Given the description of an element on the screen output the (x, y) to click on. 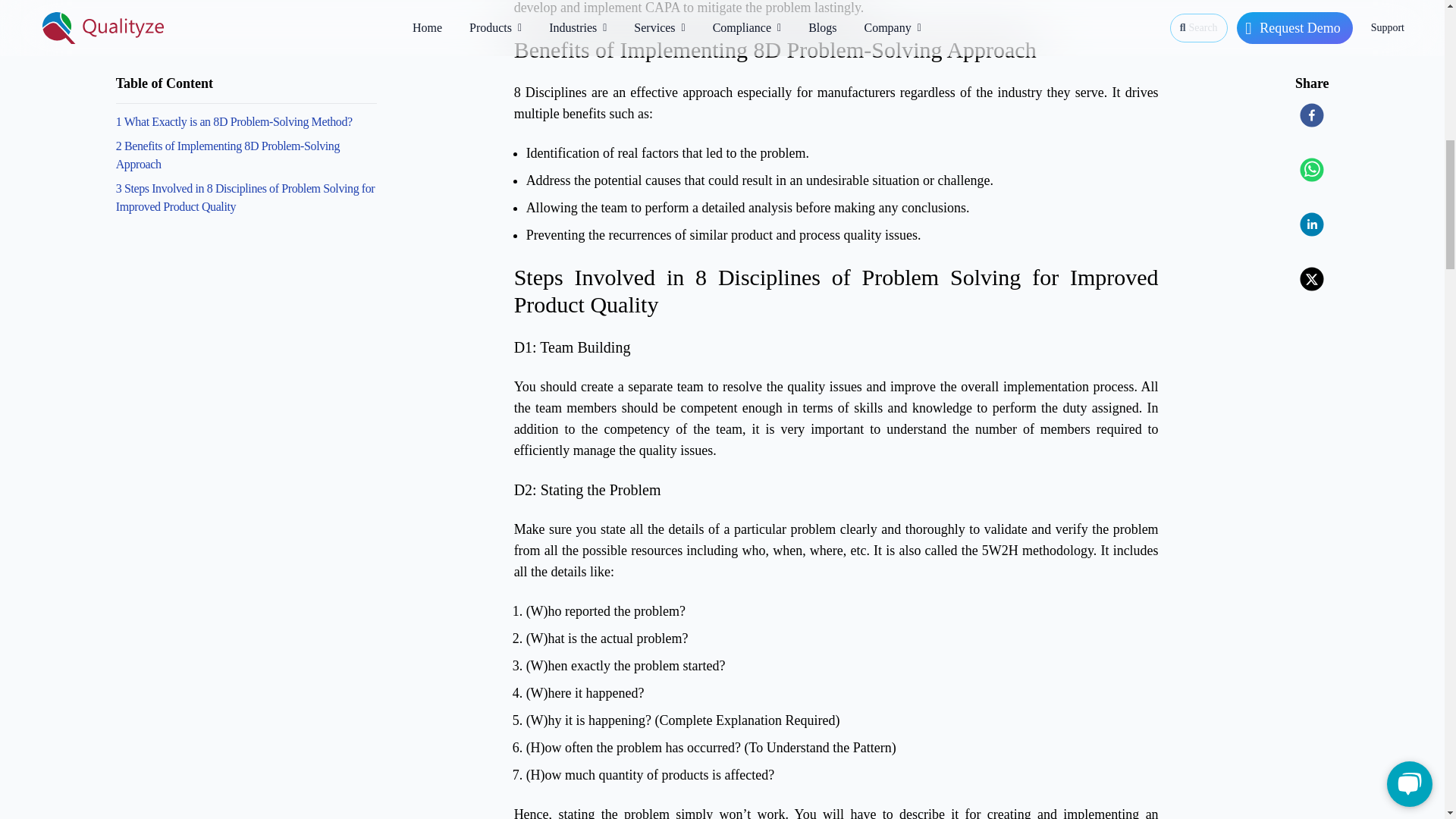
Benefits of Implementing 8D Problem-Solving Approach (835, 49)
